Given the description of an element on the screen output the (x, y) to click on. 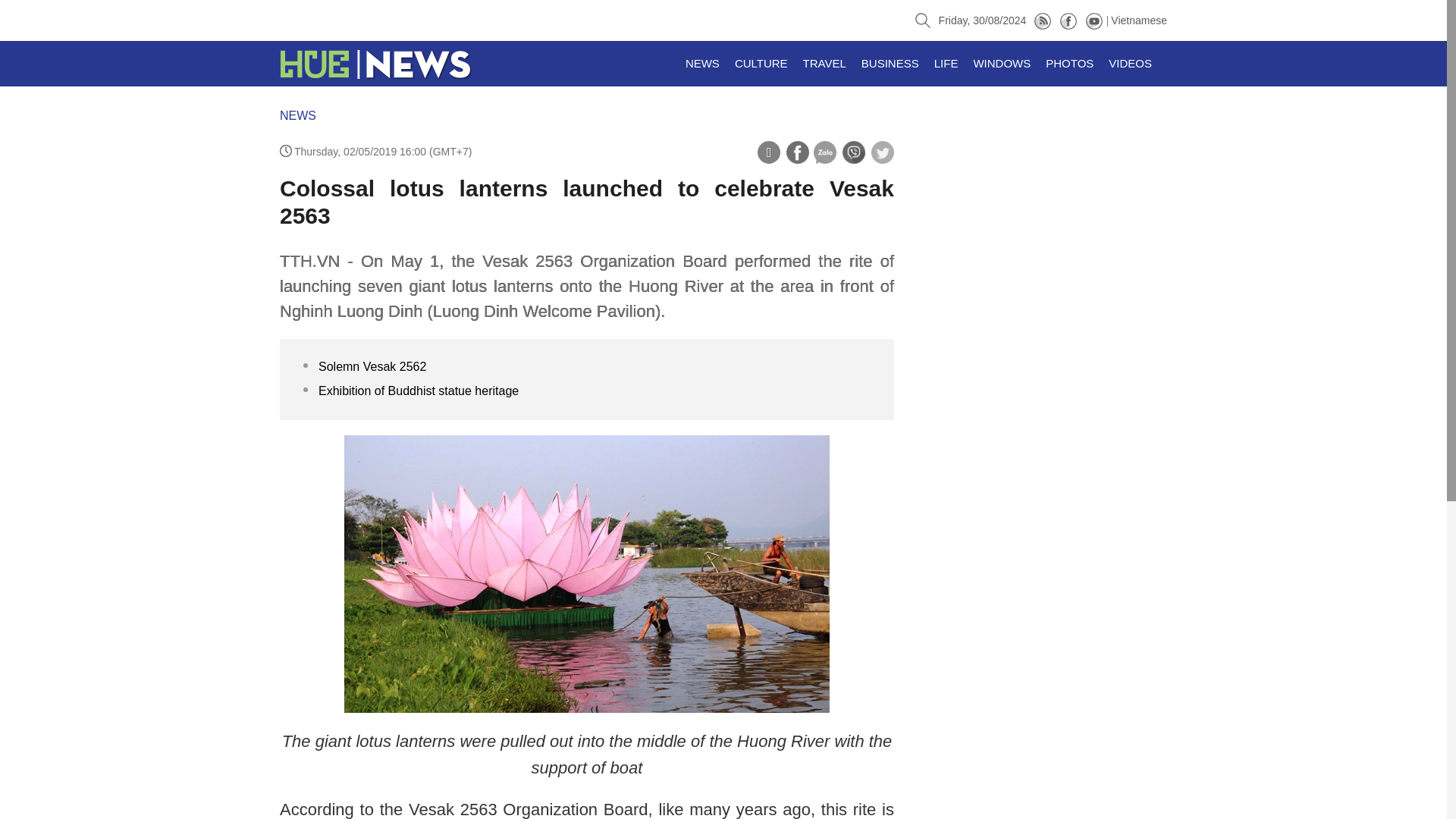
BUSINESS (889, 63)
Sitemap (1042, 19)
NEWS (297, 115)
Youtube (1093, 19)
PHOTOS (1069, 63)
Facebook (1068, 19)
Vietnames (1138, 19)
TRAVEL (824, 63)
VIDEOS (1129, 63)
WINDOWS (1001, 63)
